Given the description of an element on the screen output the (x, y) to click on. 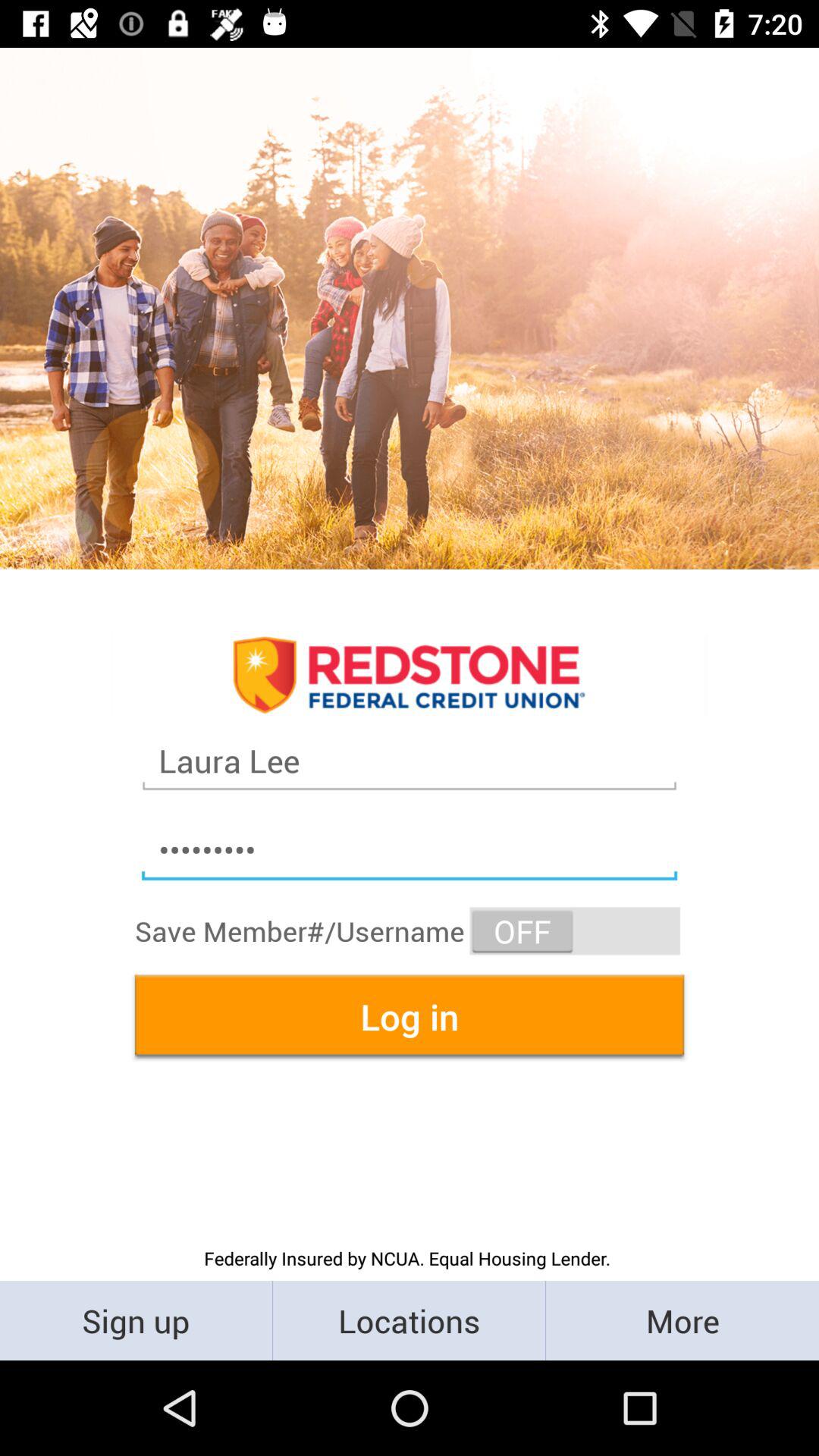
click more item (682, 1320)
